Given the description of an element on the screen output the (x, y) to click on. 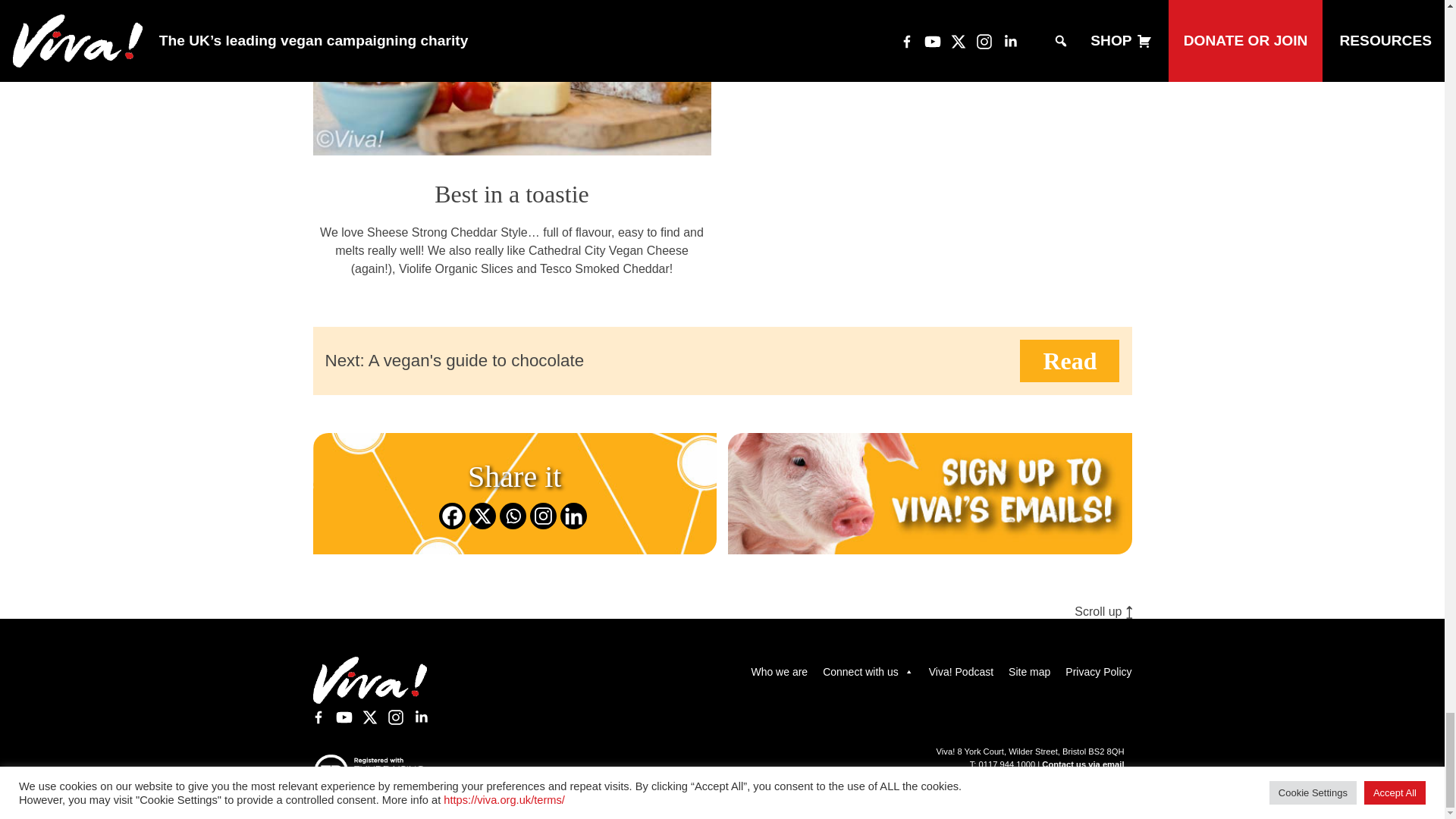
Facebook (452, 515)
X (482, 515)
Whatsapp (512, 515)
Instagram (542, 515)
